Given the description of an element on the screen output the (x, y) to click on. 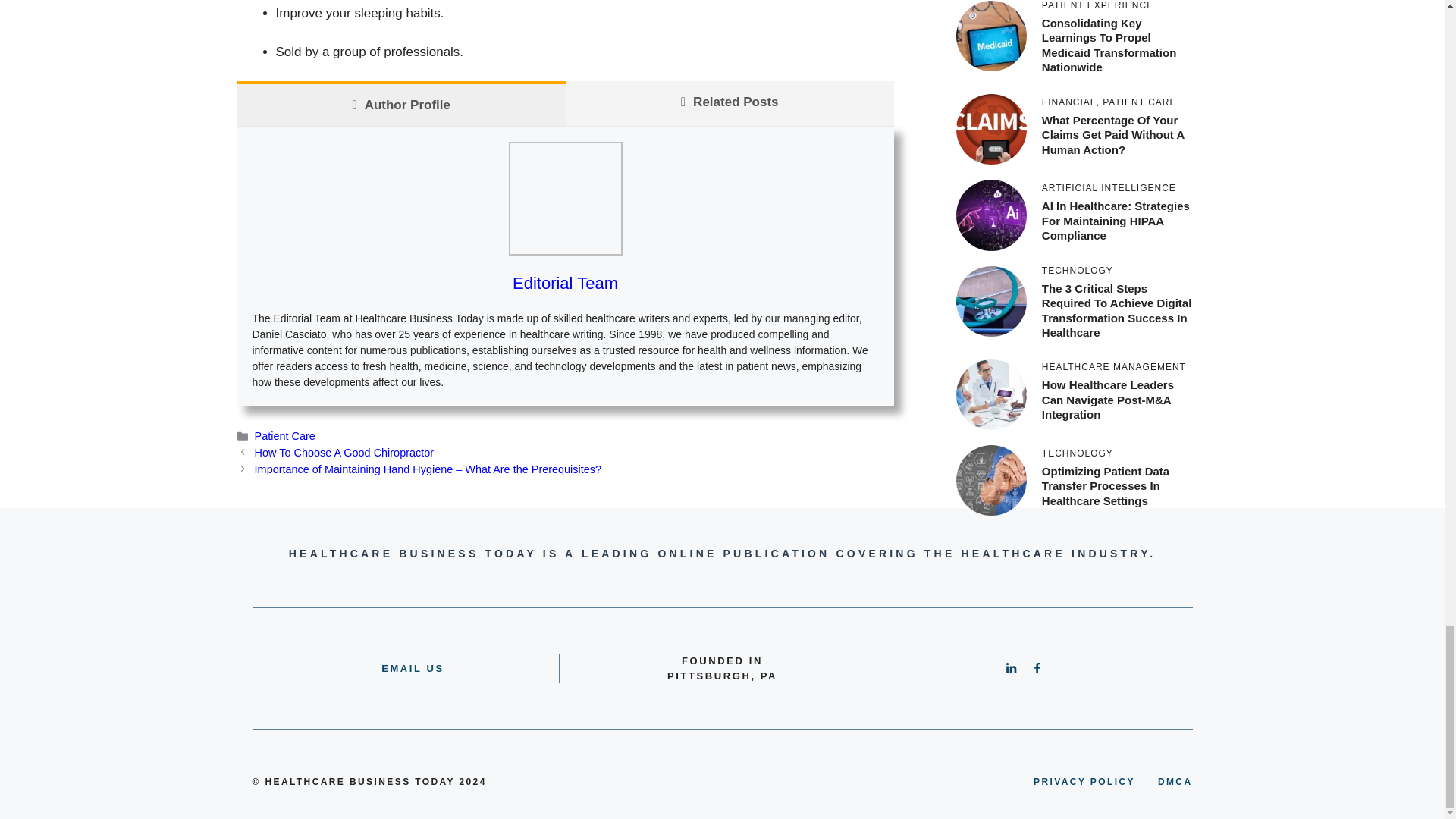
Patient Care (284, 435)
CBD Edibles: Top 9 Benefits of CBD Gummies You Should Know 1 (564, 198)
Editorial Team (564, 282)
How To Choose A Good Chiropractor (343, 452)
